Given the description of an element on the screen output the (x, y) to click on. 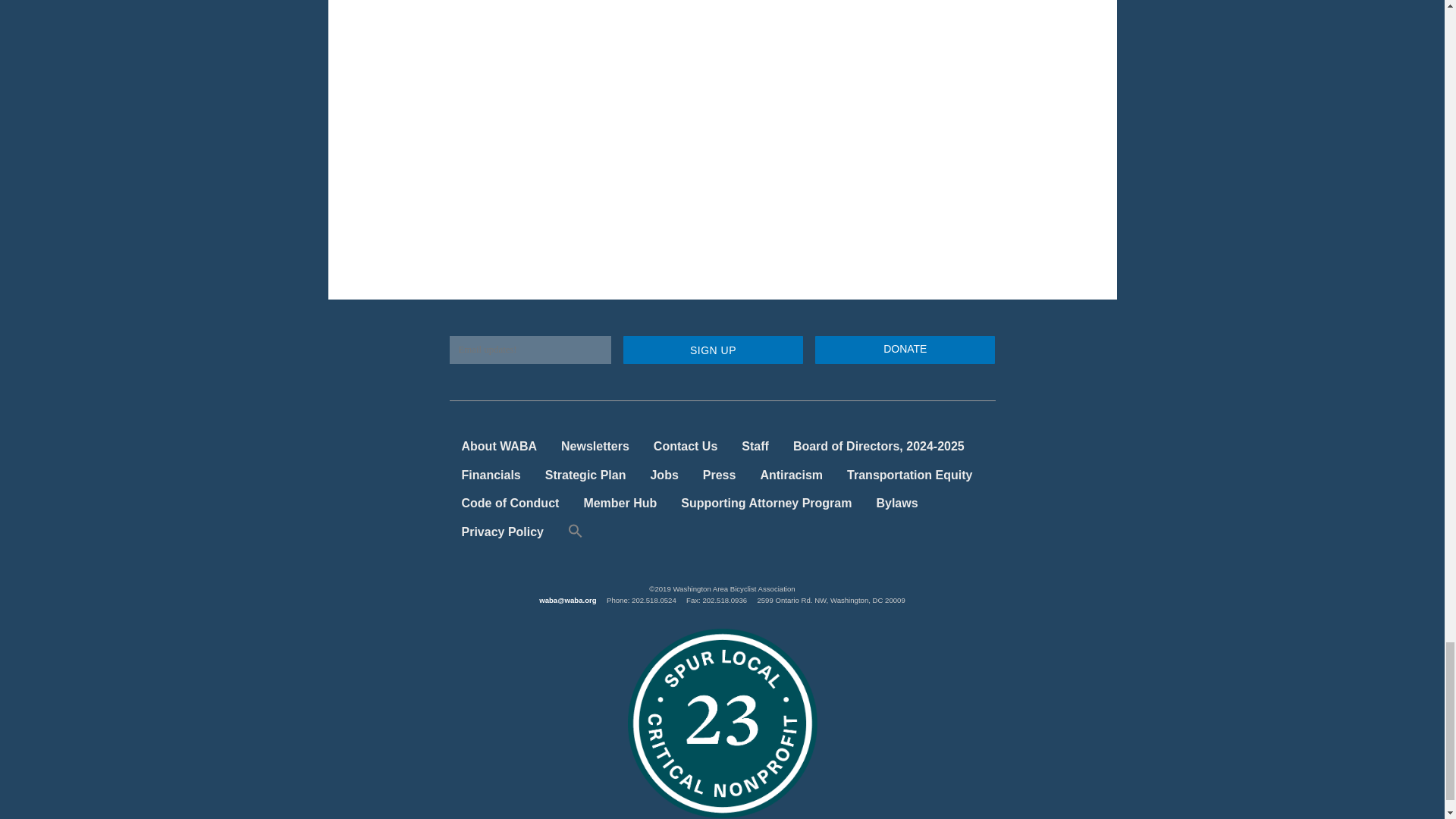
Email (529, 349)
Sign Up (713, 349)
